Given the description of an element on the screen output the (x, y) to click on. 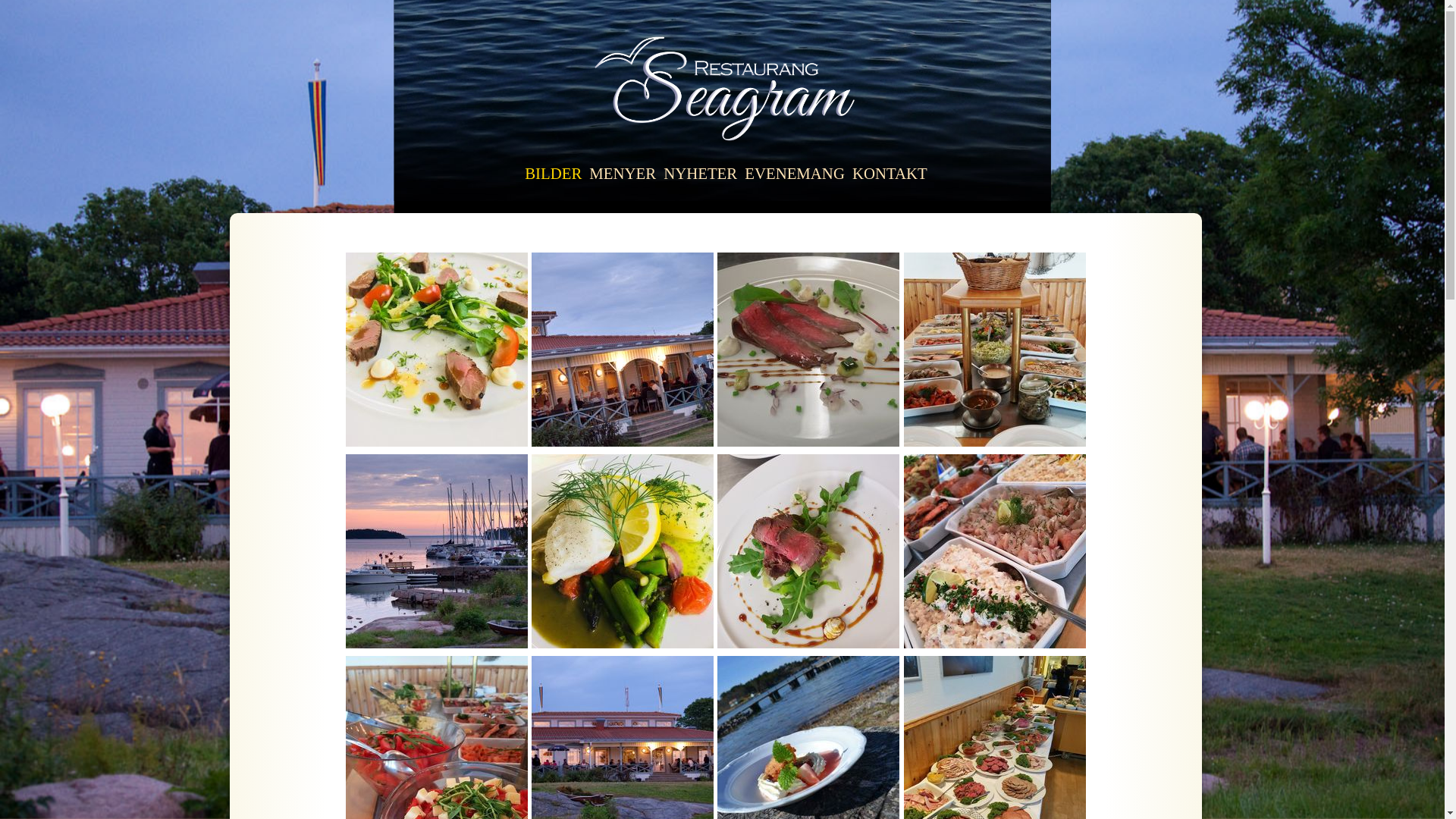
KONTAKT Element type: text (889, 173)
EVENEMANG Element type: text (794, 173)
MENYER Element type: text (622, 173)
NYHETER Element type: text (700, 173)
